Given the description of an element on the screen output the (x, y) to click on. 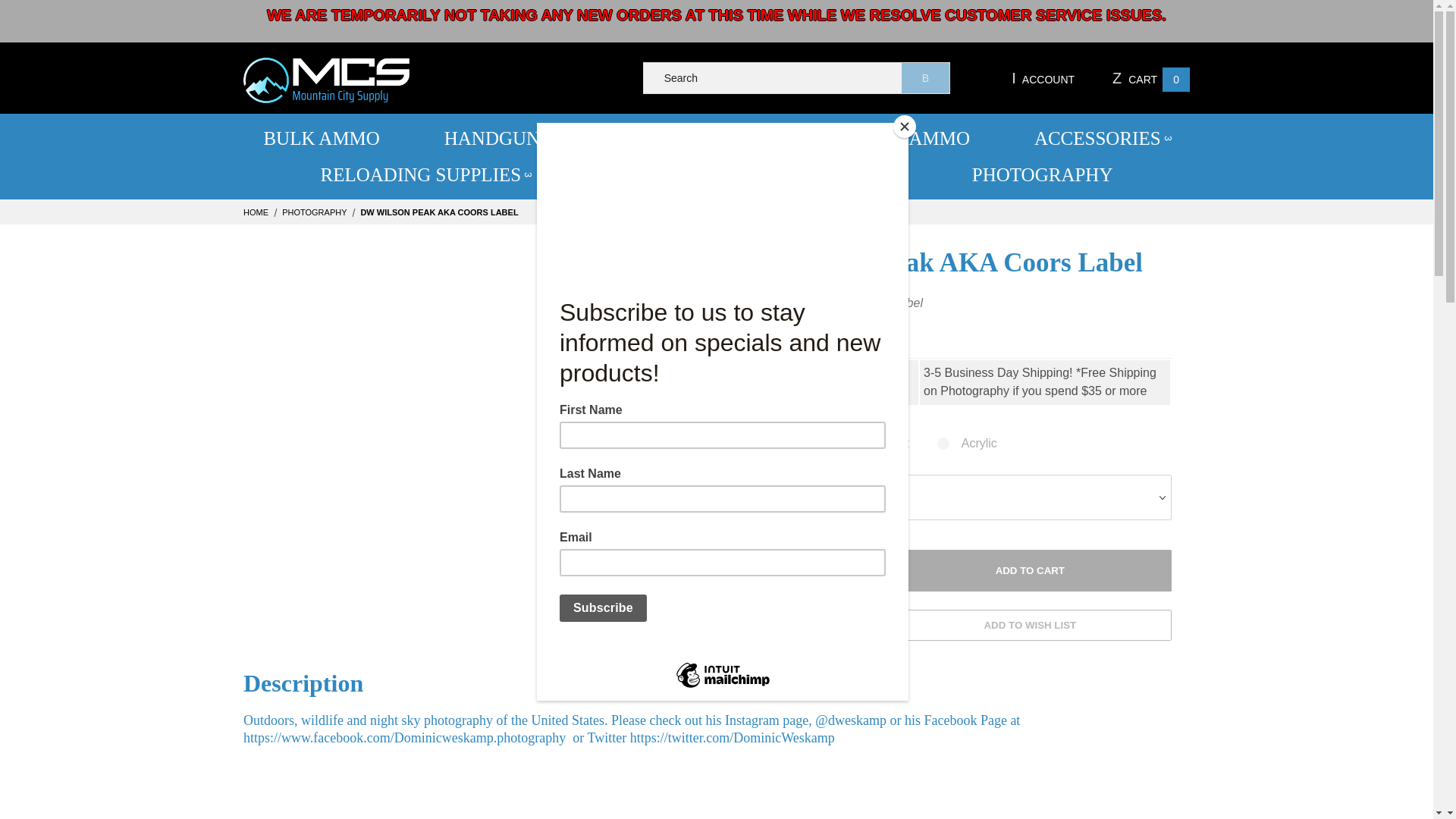
Acrylic (967, 443)
HANDGUN AMMO (529, 138)
Metal (767, 443)
Photography (315, 212)
Home (256, 212)
Giclee Print (866, 443)
CART 0 (1147, 77)
DW Wilson Peak AKA Coors Label (438, 212)
Sign In (1065, 243)
Add to Wish List (1030, 625)
